Given the description of an element on the screen output the (x, y) to click on. 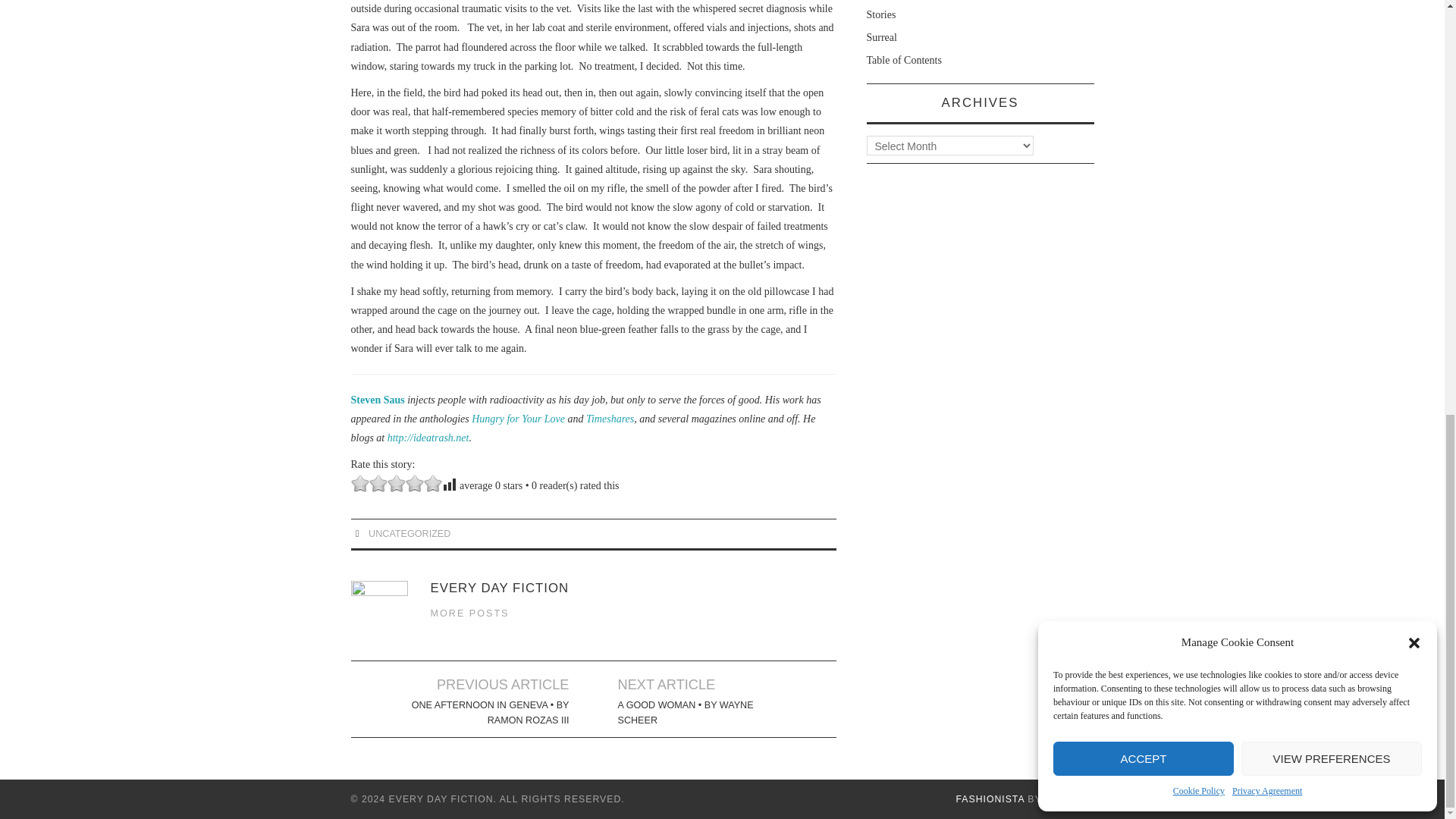
Timeshares (609, 419)
Steven Saus (377, 399)
Hungry for Your Love (517, 419)
MORE POSTS (469, 613)
